Given the description of an element on the screen output the (x, y) to click on. 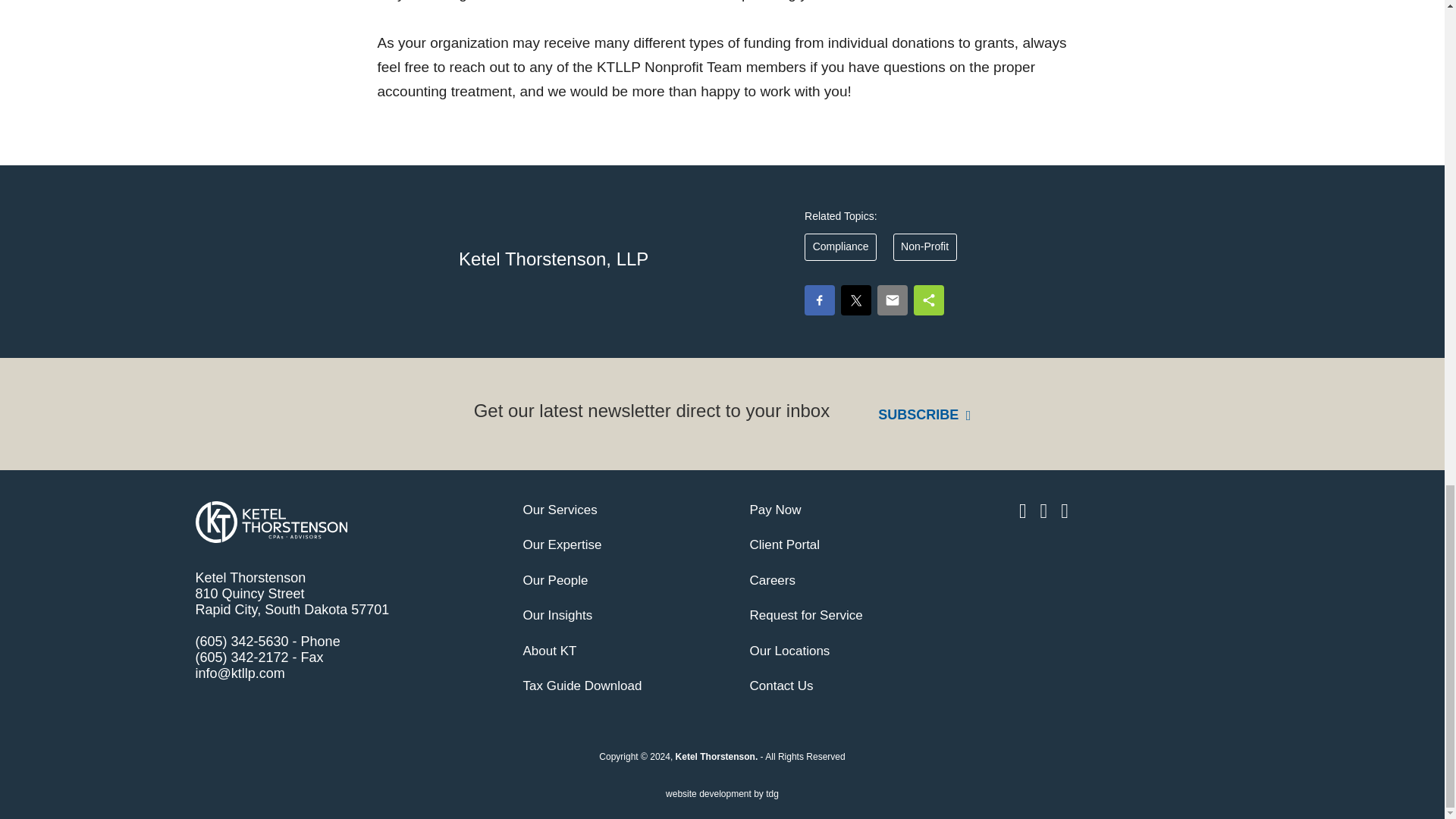
Compliance (840, 246)
linkedin (1024, 510)
instagram (1046, 510)
Non-Profit (924, 246)
